Given the description of an element on the screen output the (x, y) to click on. 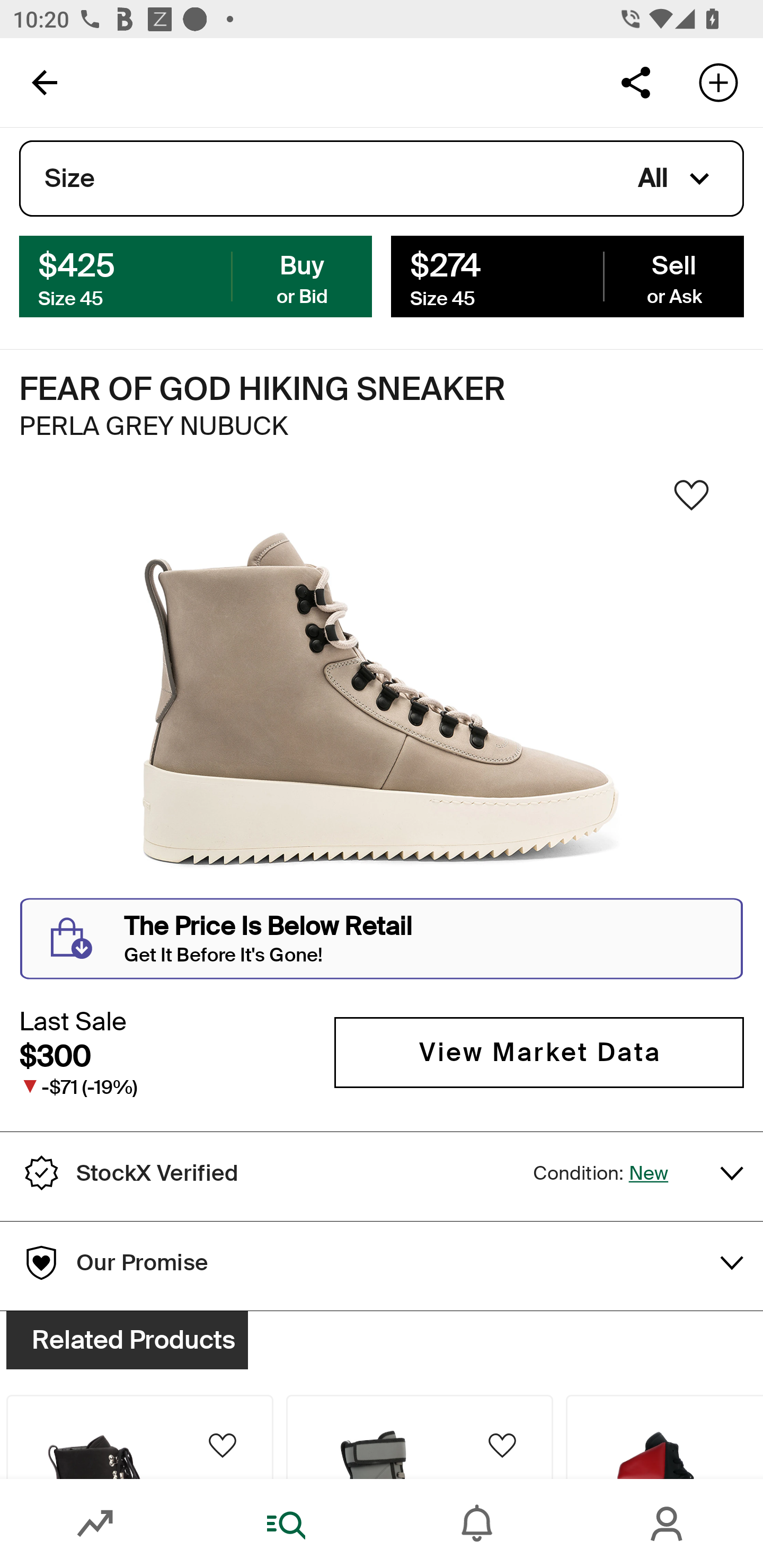
Share (635, 81)
Size All (381, 178)
$425 Buy Size 45 or Bid (195, 275)
$274 Sell Size 45 or Ask (566, 275)
Sneaker Image (381, 699)
View Market Data (538, 1052)
Market (95, 1523)
Inbox (476, 1523)
Account (667, 1523)
